Given the description of an element on the screen output the (x, y) to click on. 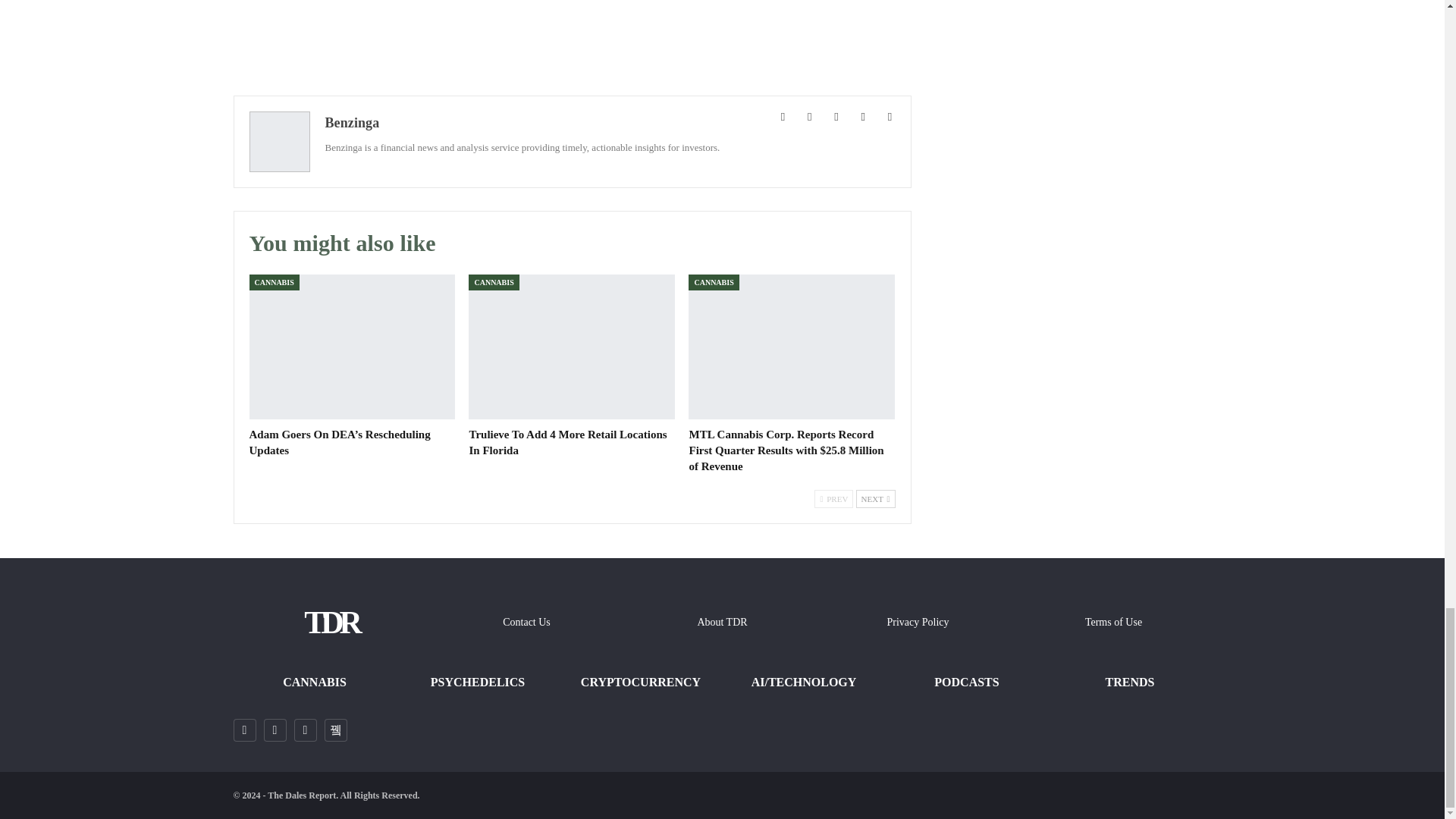
Trulieve To Add 4 More Retail Locations In Florida (571, 346)
Previous (833, 498)
Trulieve To Add 4 More Retail Locations In Florida (567, 442)
